Given the description of an element on the screen output the (x, y) to click on. 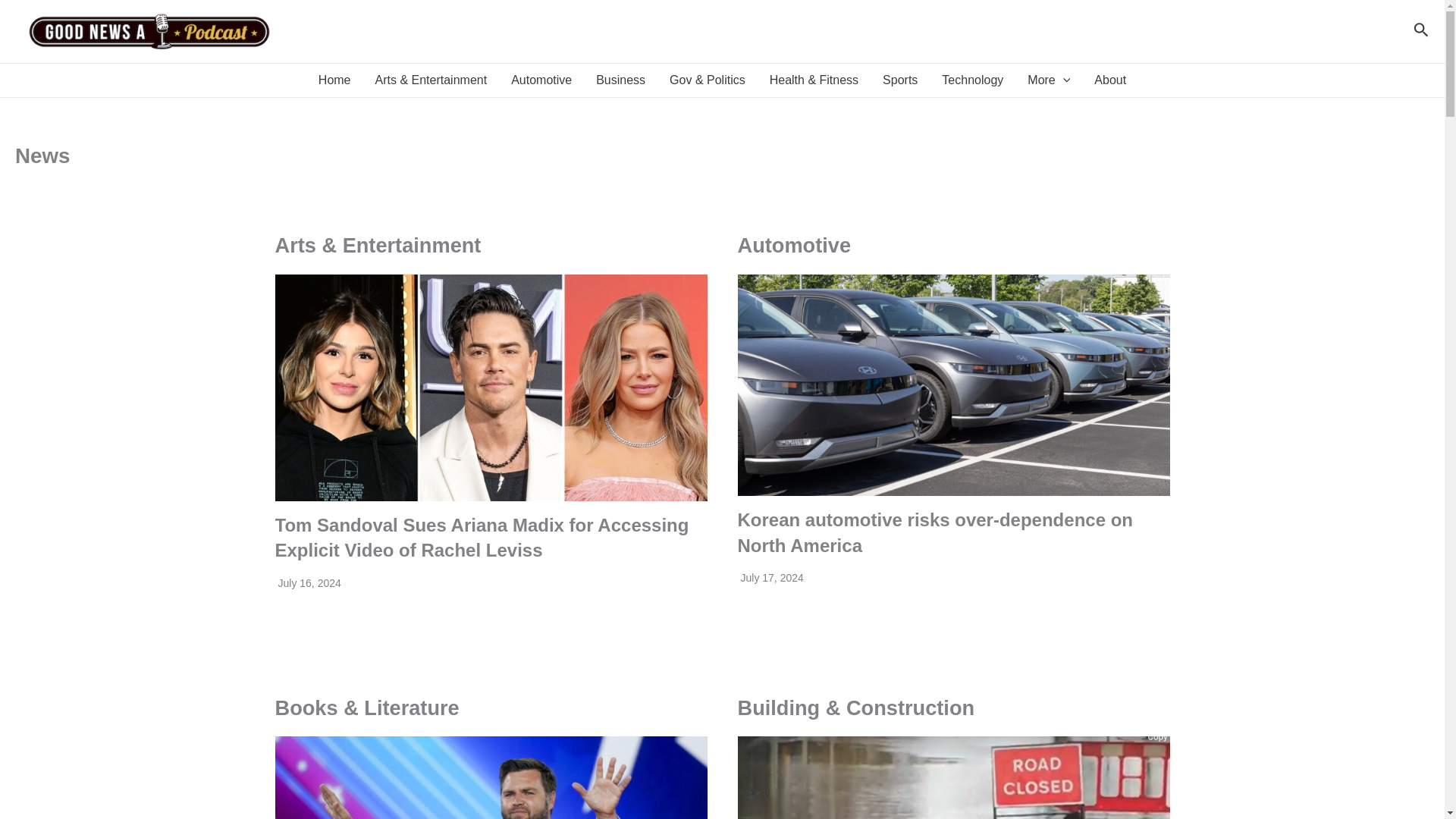
Sports (900, 80)
Home (333, 80)
Automotive (541, 80)
Technology (972, 80)
More (1047, 80)
About (1109, 80)
Business (620, 80)
